Given the description of an element on the screen output the (x, y) to click on. 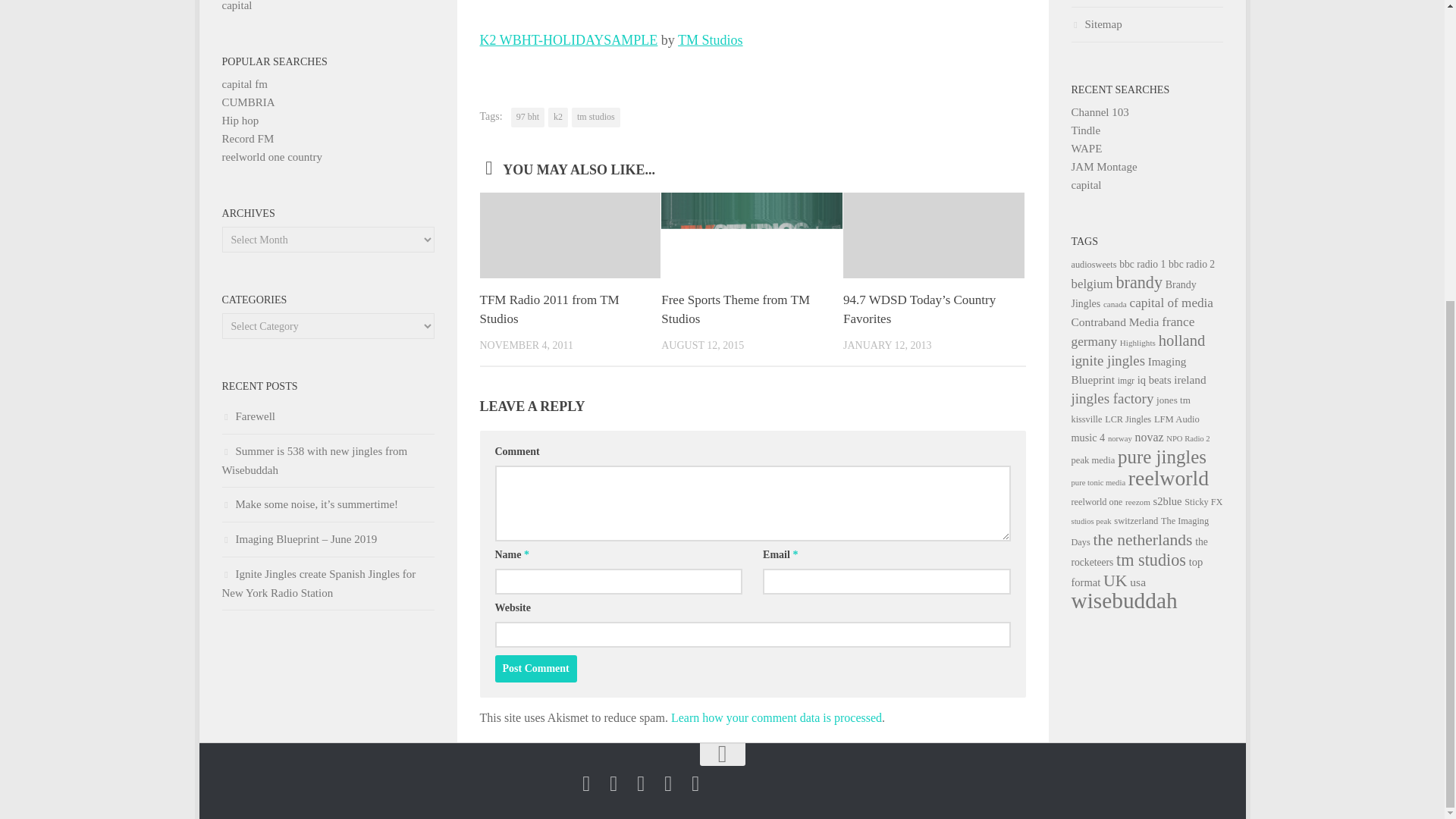
Permalink to Free Sports Theme from TM Studios (735, 309)
Post Comment (535, 668)
Learn how your comment data is processed (776, 717)
97 bht (527, 117)
TM Studios (710, 39)
TFM Radio 2011 from TM Studios (548, 309)
Permalink to TFM Radio 2011 from TM Studios (548, 309)
tm studios (596, 117)
Free Sports Theme from TM Studios (735, 309)
Post Comment (535, 668)
K2 WBHT-HOLIDAYSAMPLE (568, 39)
k2 (557, 117)
